Given the description of an element on the screen output the (x, y) to click on. 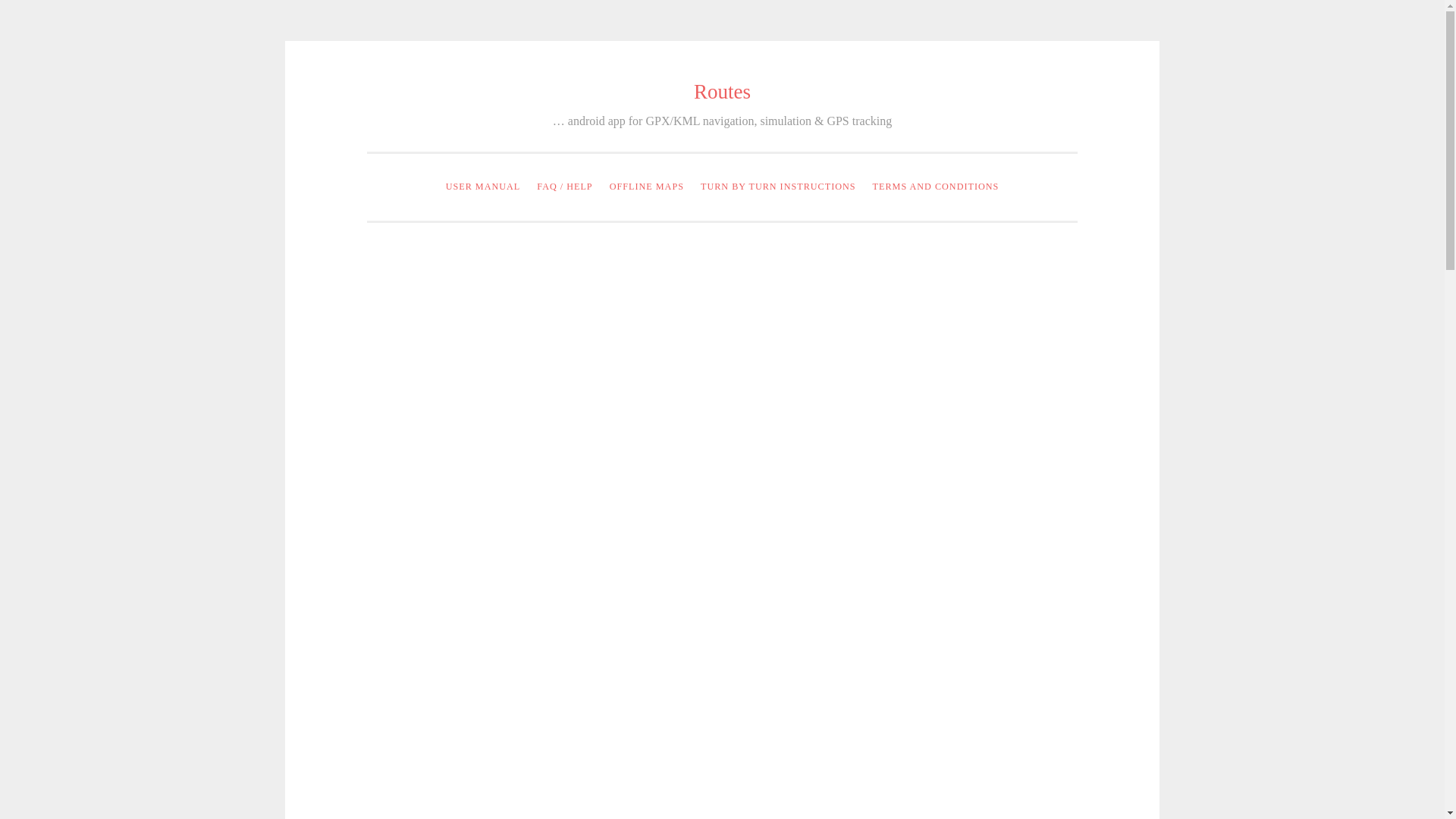
USER MANUAL (483, 186)
OFFLINE MAPS (646, 186)
TURN BY TURN INSTRUCTIONS (778, 186)
Routes (722, 91)
TERMS AND CONDITIONS (936, 186)
Routes (722, 91)
